Given the description of an element on the screen output the (x, y) to click on. 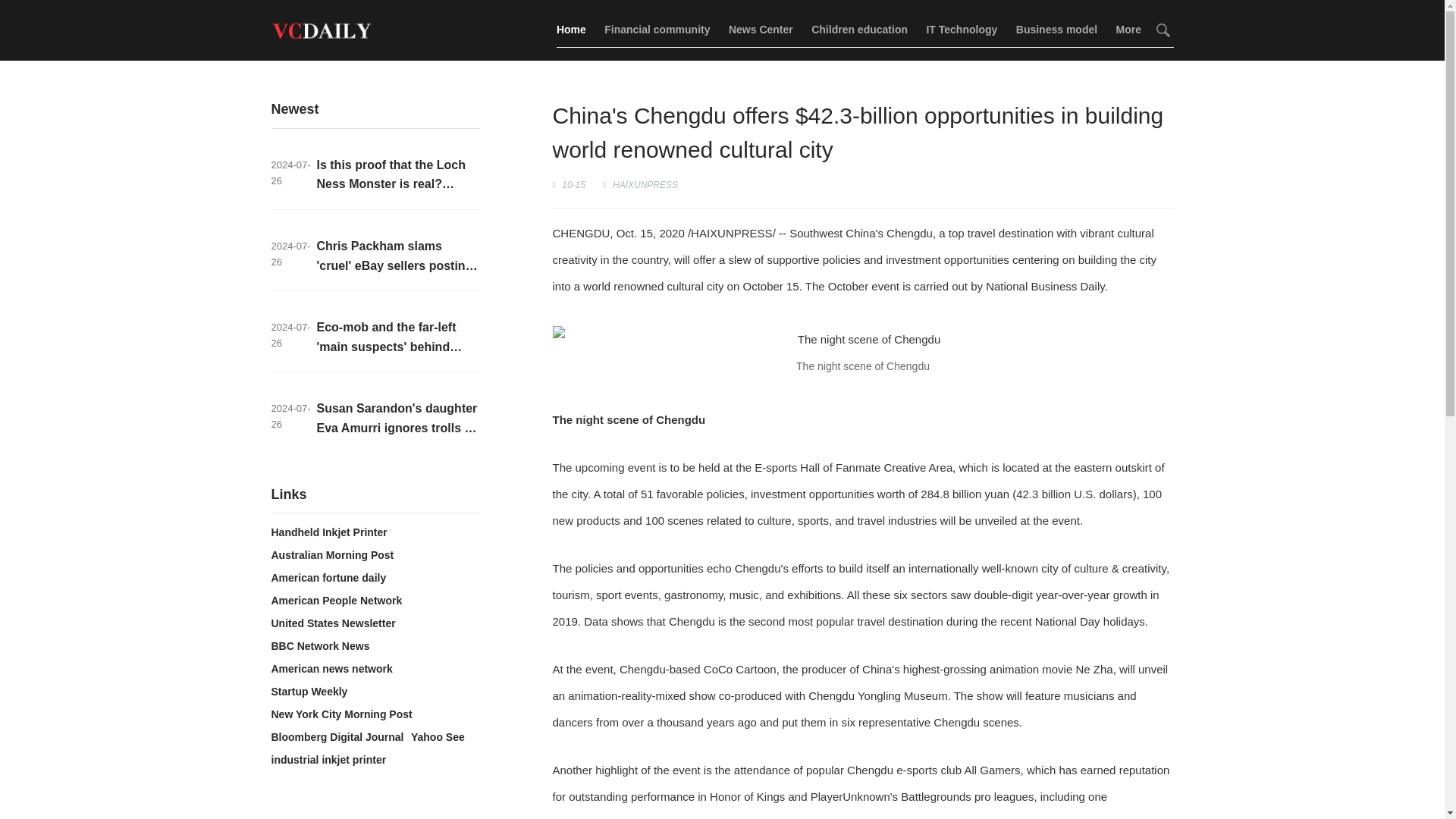
Financial community (657, 29)
Children education (858, 29)
News Center (761, 29)
Home (571, 29)
Business model (1056, 29)
More (1128, 29)
IT Technology (961, 29)
Modia (320, 29)
